Given the description of an element on the screen output the (x, y) to click on. 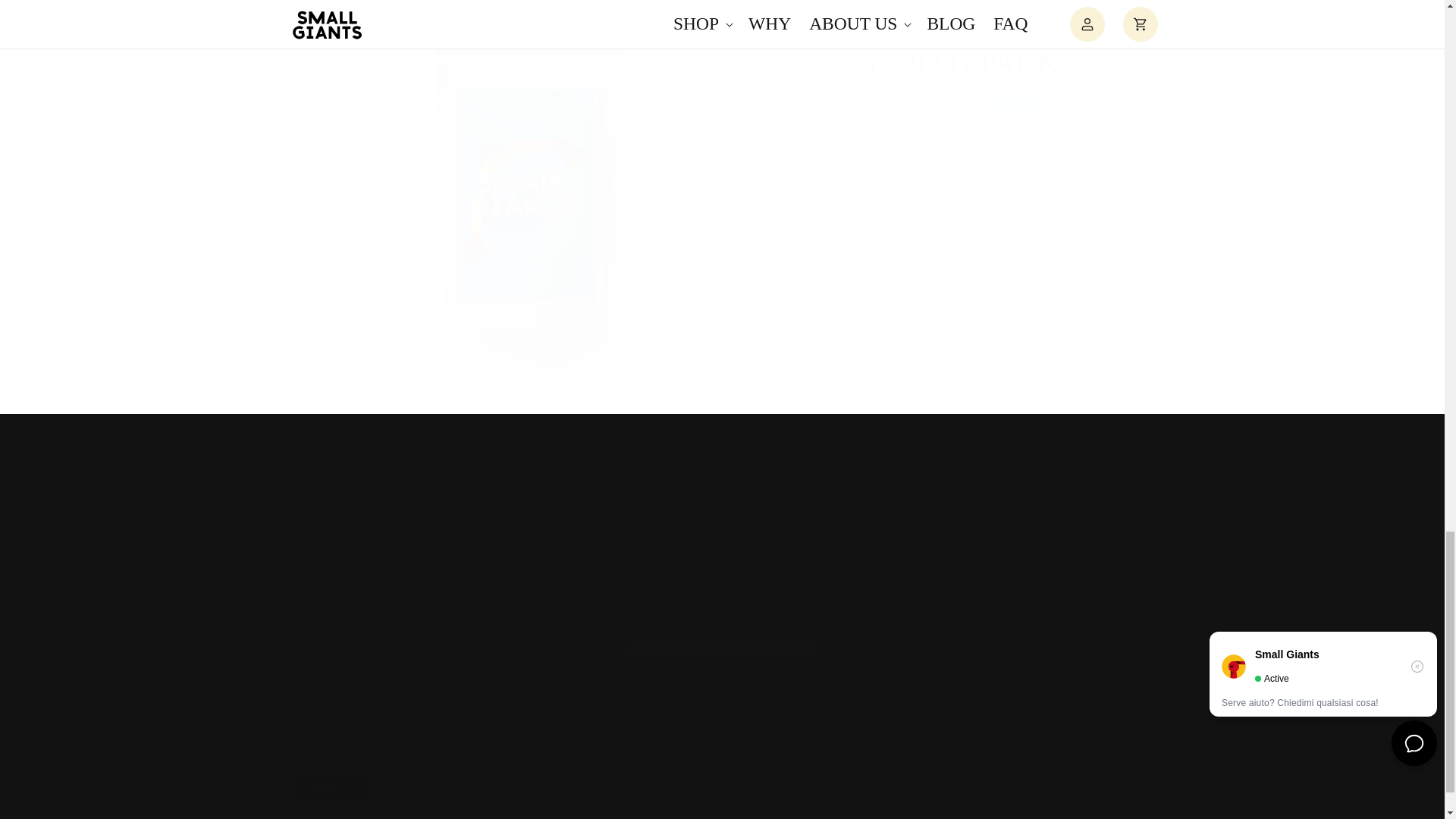
1 (832, 552)
Shipping costs (874, 188)
